Given the description of an element on the screen output the (x, y) to click on. 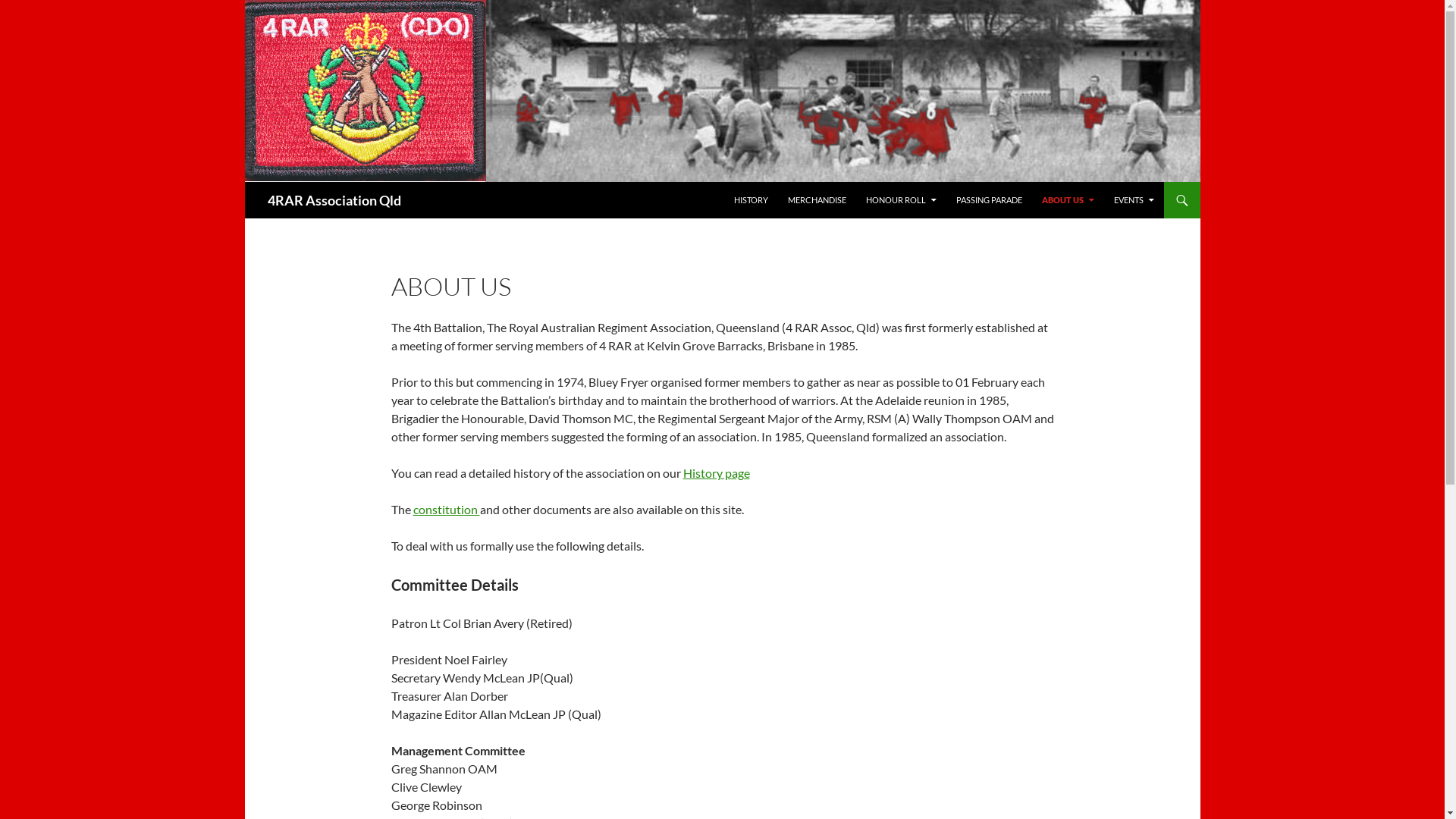
PASSING PARADE Element type: text (988, 200)
HISTORY Element type: text (750, 200)
4RAR Association Qld Element type: text (333, 200)
MERCHANDISE Element type: text (816, 200)
ABOUT US Element type: text (1067, 200)
SKIP TO CONTENT Element type: text (732, 181)
HONOUR ROLL Element type: text (900, 200)
Search Element type: text (247, 181)
EVENTS Element type: text (1133, 200)
constitution Element type: text (445, 509)
History page Element type: text (715, 472)
